Given the description of an element on the screen output the (x, y) to click on. 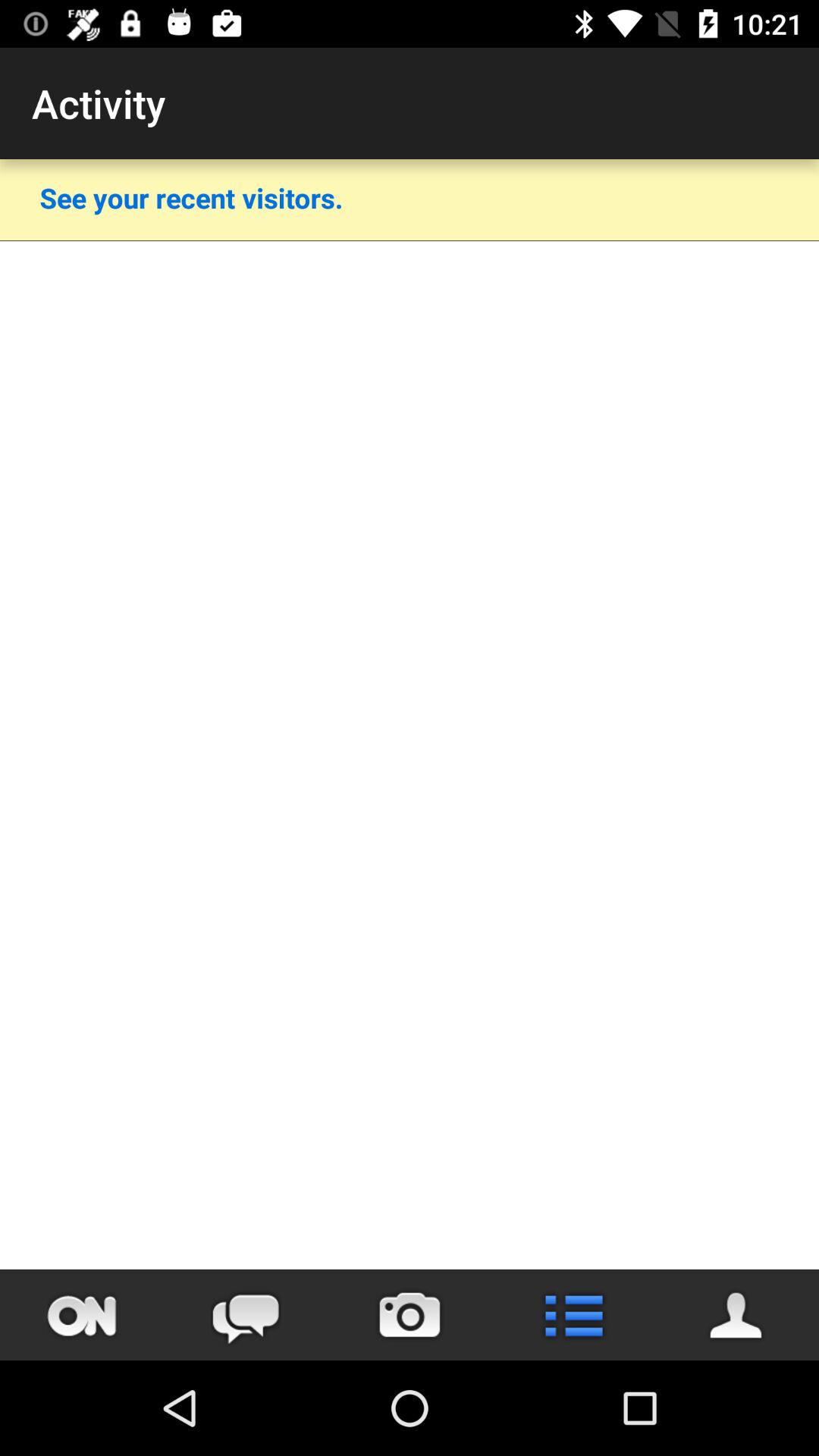
flip until see your recent icon (190, 197)
